Given the description of an element on the screen output the (x, y) to click on. 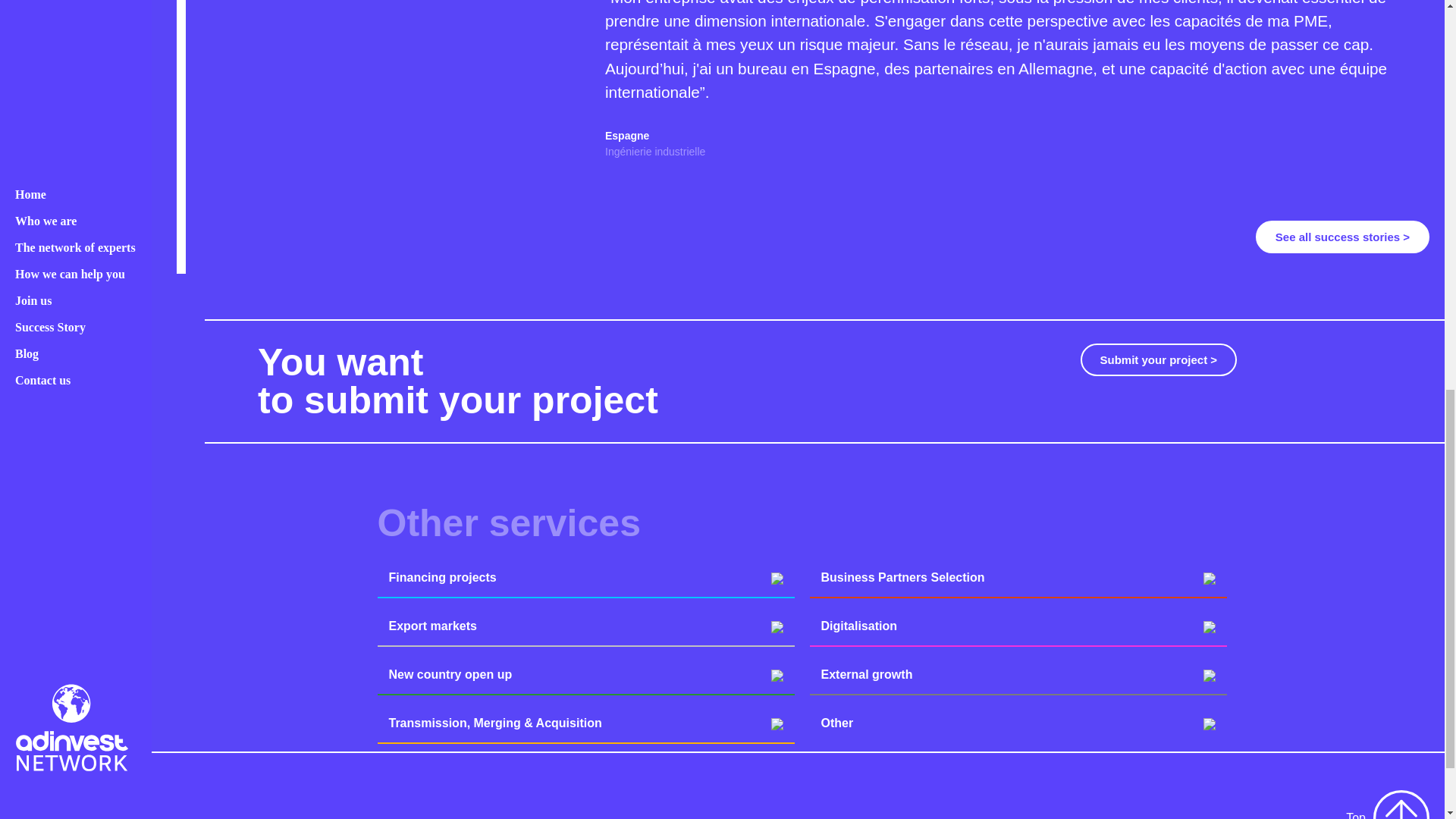
External growth (1018, 674)
Other (1018, 722)
Top (1387, 804)
Business Partners Selection (1018, 577)
New country open up (585, 674)
Export markets (585, 626)
Financing projects (585, 577)
Digitalisation (1018, 626)
